Given the description of an element on the screen output the (x, y) to click on. 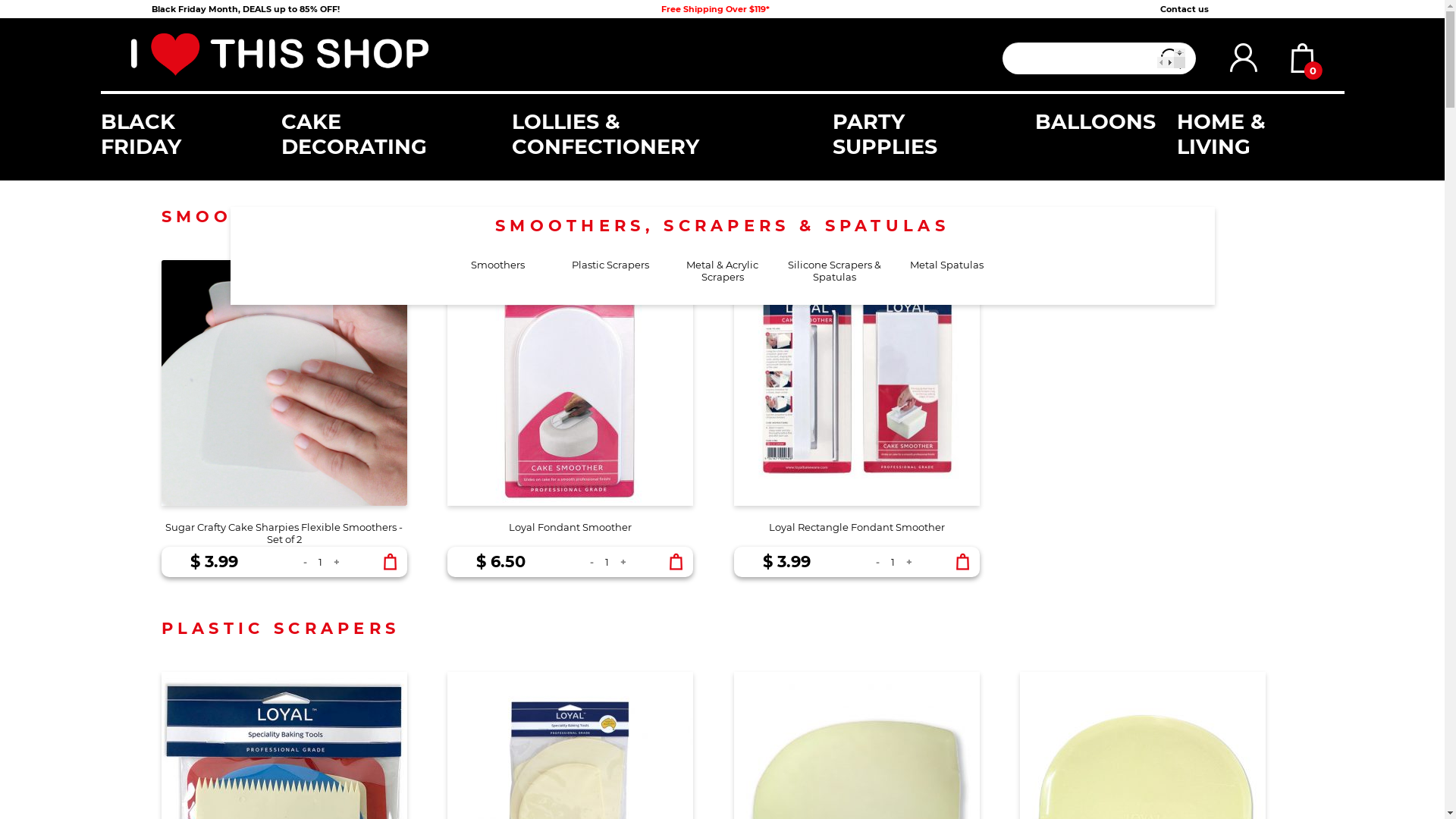
Metal & Acrylic Scrapers Element type: text (721, 270)
Loyal Fondant Smoother Element type: text (570, 403)
Black Friday Month, DEALS up to 85% OFF! Element type: text (245, 8)
BLACK FRIDAY Element type: text (190, 134)
Sugar Crafty Cake Sharpies Flexible Smoothers - Set of 2 Element type: text (283, 403)
HOME & LIVING Element type: text (1259, 134)
Skip to navigation Element type: text (130, 53)
Free Shipping Over $119* Element type: text (715, 8)
- Element type: text (304, 561)
PARTY SUPPLIES Element type: text (933, 134)
BALLOONS Element type: text (1105, 121)
Silicone Scrapers & Spatulas Element type: text (834, 270)
Contact us Element type: text (1184, 8)
Loyal Rectangle Fondant Smoother Element type: text (856, 403)
+ Element type: text (336, 561)
Metal Spatulas Element type: text (946, 270)
Smoothers Element type: text (497, 270)
+ Element type: text (622, 561)
Search Element type: text (1171, 58)
CAKE DECORATING Element type: text (396, 134)
+ Element type: text (908, 561)
- Element type: text (877, 561)
LOLLIES & CONFECTIONERY Element type: text (671, 134)
- Element type: text (591, 561)
Plastic Scrapers Element type: text (609, 270)
